Given the description of an element on the screen output the (x, y) to click on. 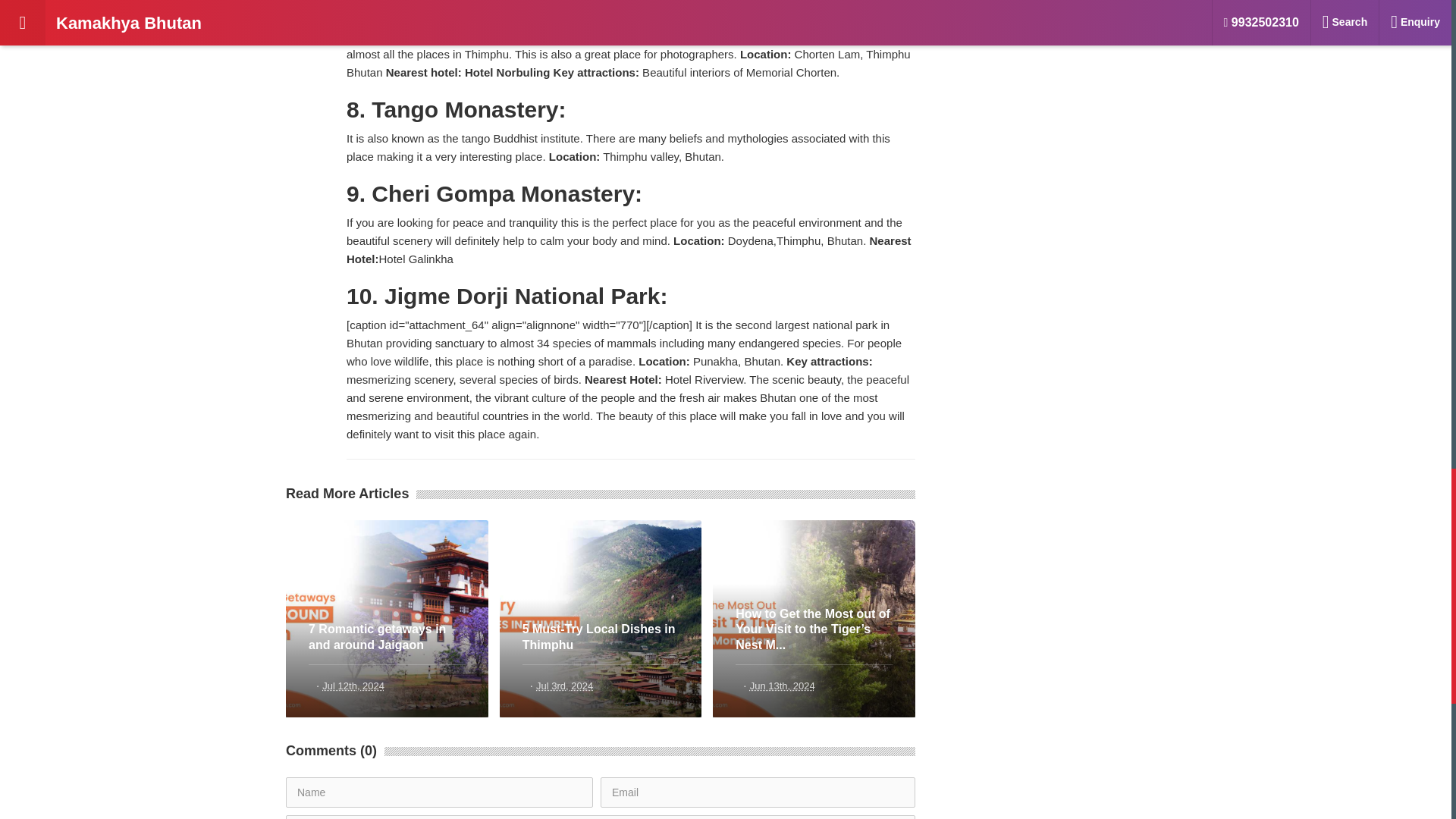
Jul 12th, 2024 (352, 685)
Jun 13th, 2024 (782, 685)
Jul 3rd, 2024 (563, 685)
